Given the description of an element on the screen output the (x, y) to click on. 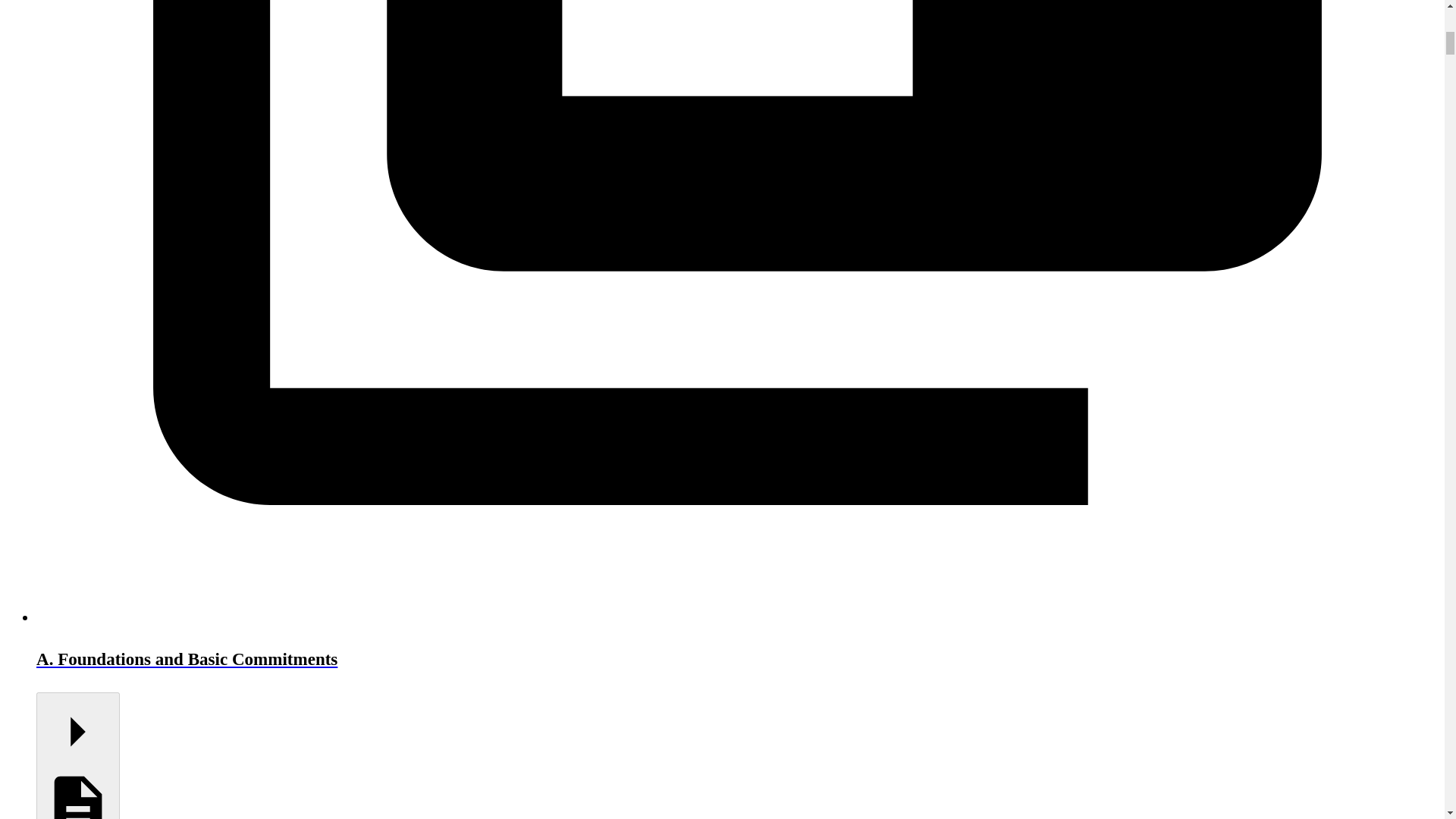
13 Pages (77, 755)
